Given the description of an element on the screen output the (x, y) to click on. 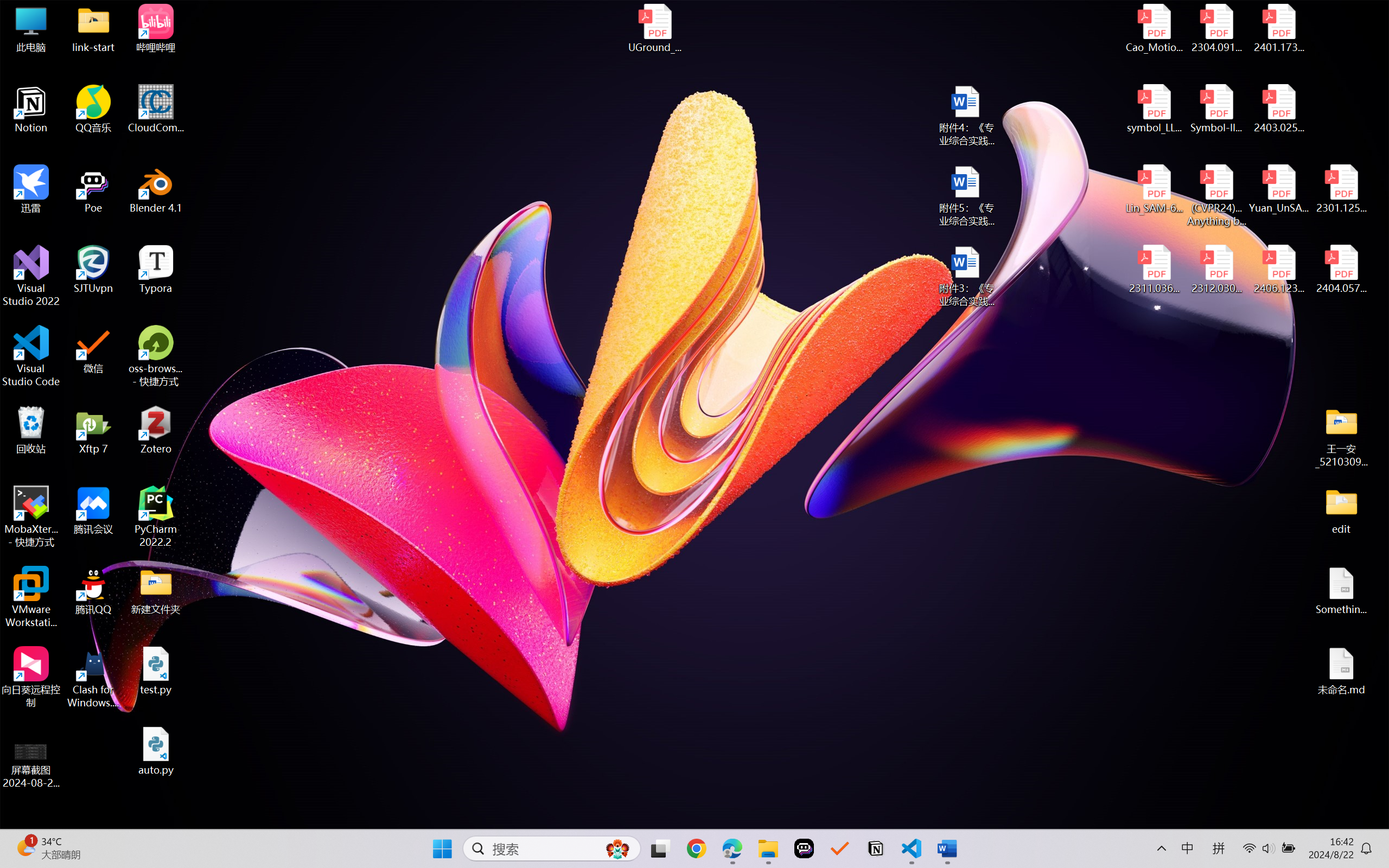
2403.02502v1.pdf (1278, 109)
2304.09121v3.pdf (1216, 28)
edit (1340, 510)
Symbol-llm-v2.pdf (1216, 109)
CloudCompare (156, 109)
